Given the description of an element on the screen output the (x, y) to click on. 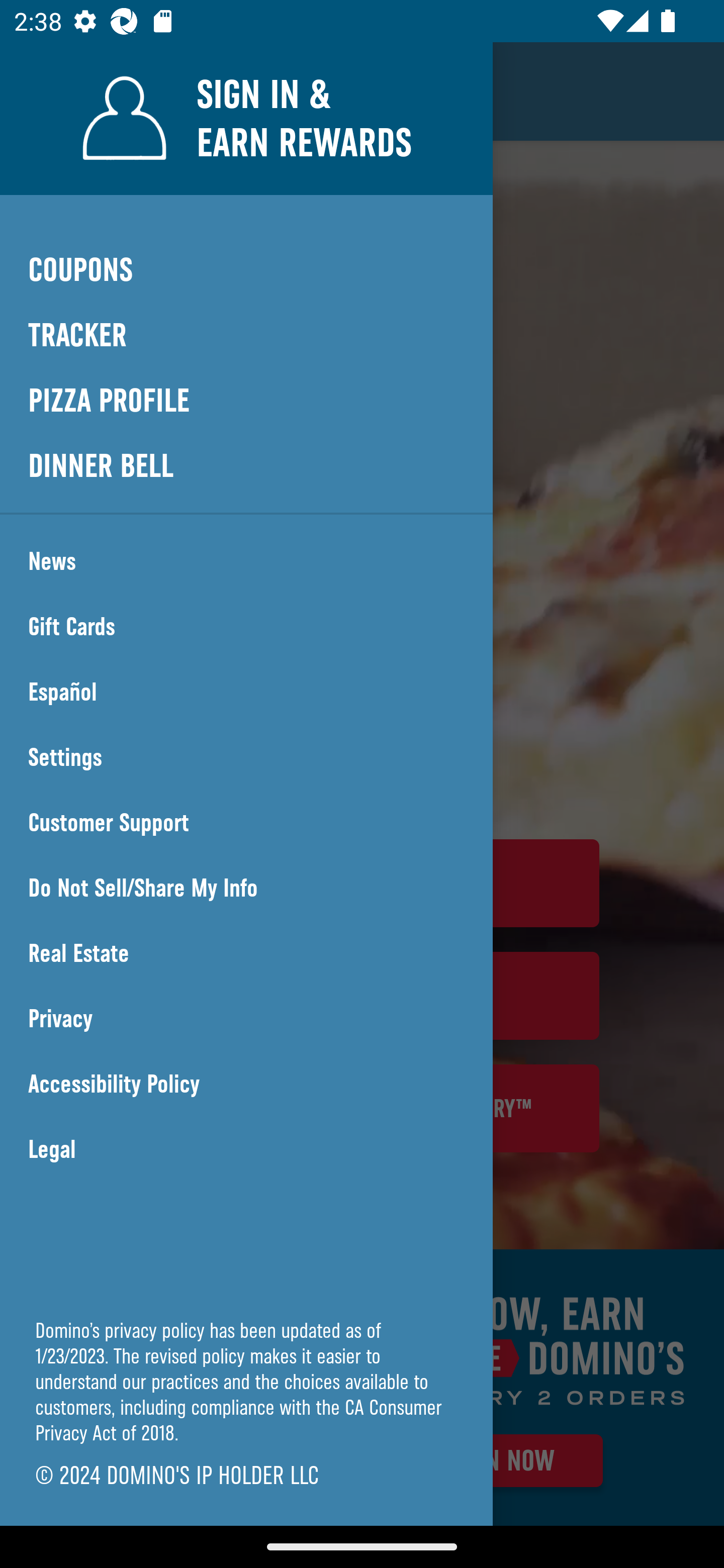
SIGN IN & EARN REWARDS (246, 118)
COUPONS (246, 269)
TRACKER (246, 335)
PIZZA PROFILE (246, 400)
DINNER BELL (246, 465)
News (246, 561)
Gift Cards (246, 627)
Español (246, 692)
Settings (246, 757)
Customer Support (246, 823)
Do Not Sell/Share My Info (246, 888)
Real Estate (246, 953)
Privacy (246, 1019)
Accessibility Policy (246, 1084)
Legal (246, 1149)
